Given the description of an element on the screen output the (x, y) to click on. 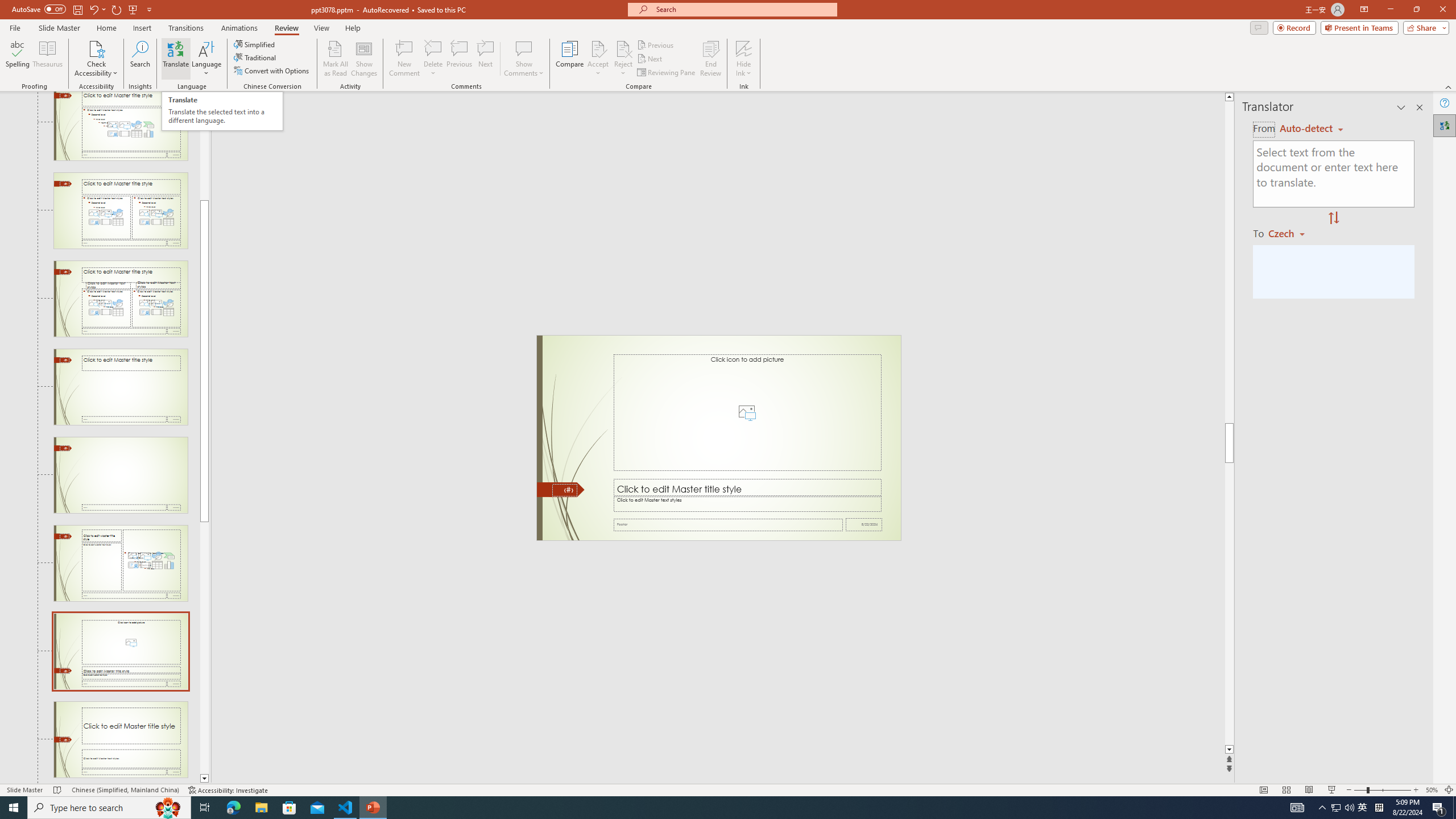
Accept (598, 58)
Accept Change (598, 48)
Slide Title and Content Layout: used by no slides (120, 125)
Delete (432, 58)
Title TextBox (746, 488)
Slide Title and Caption Layout: used by no slides (120, 739)
Check Accessibility (95, 58)
New Comment (403, 58)
Traditional (255, 56)
Freeform 11 (561, 489)
